Given the description of an element on the screen output the (x, y) to click on. 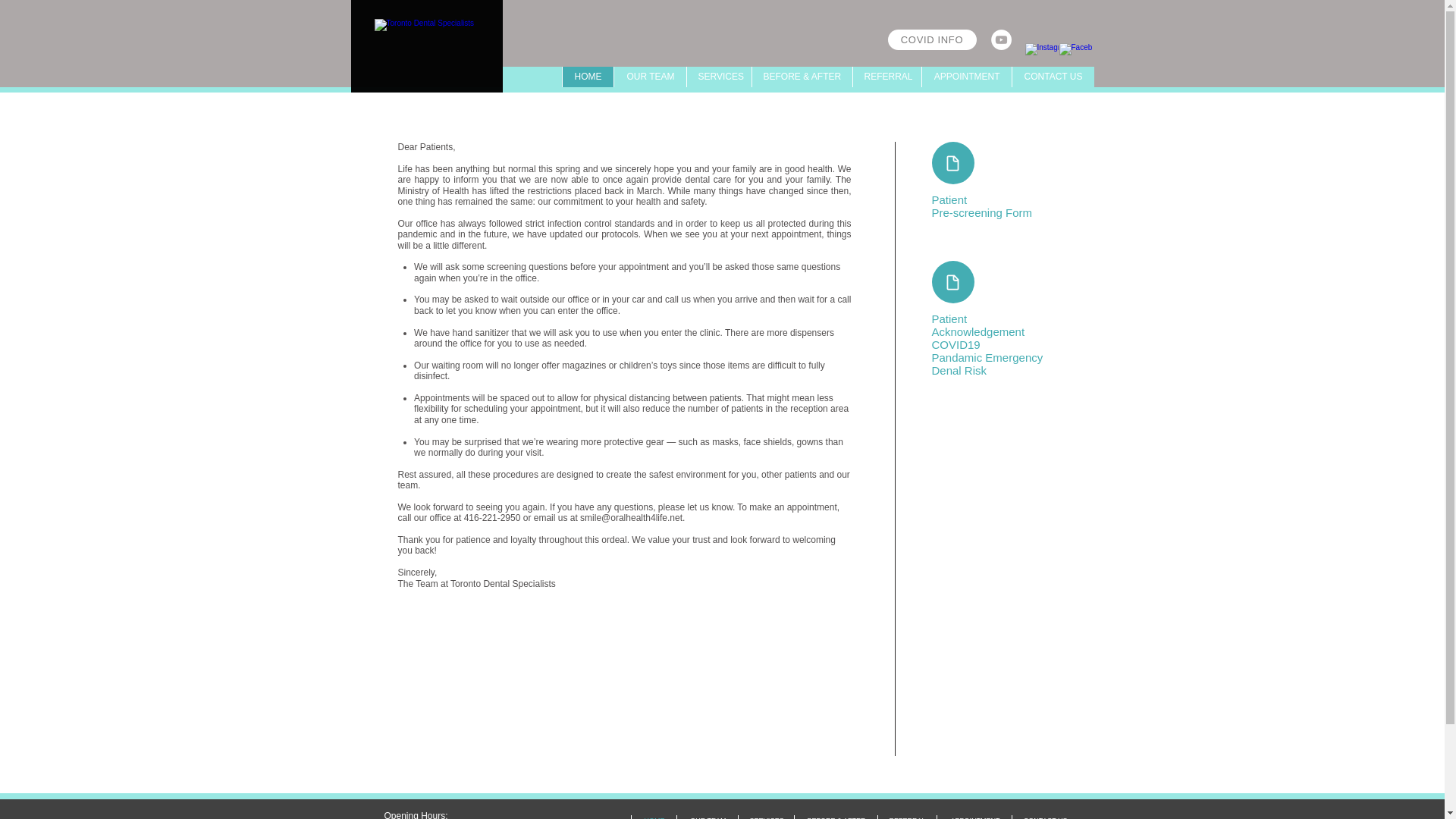
OUR TEAM (707, 816)
REFERRAL (886, 76)
APPOINTMENT (965, 76)
SERVICES (718, 76)
HOME (586, 76)
SERVICES (764, 816)
APPOINTMENT (973, 816)
CONTACT US (1044, 816)
COVID INFO (930, 39)
REFERRAL (906, 816)
OUR TEAM (648, 76)
HOME (653, 816)
CONTACT US (1052, 76)
